Given the description of an element on the screen output the (x, y) to click on. 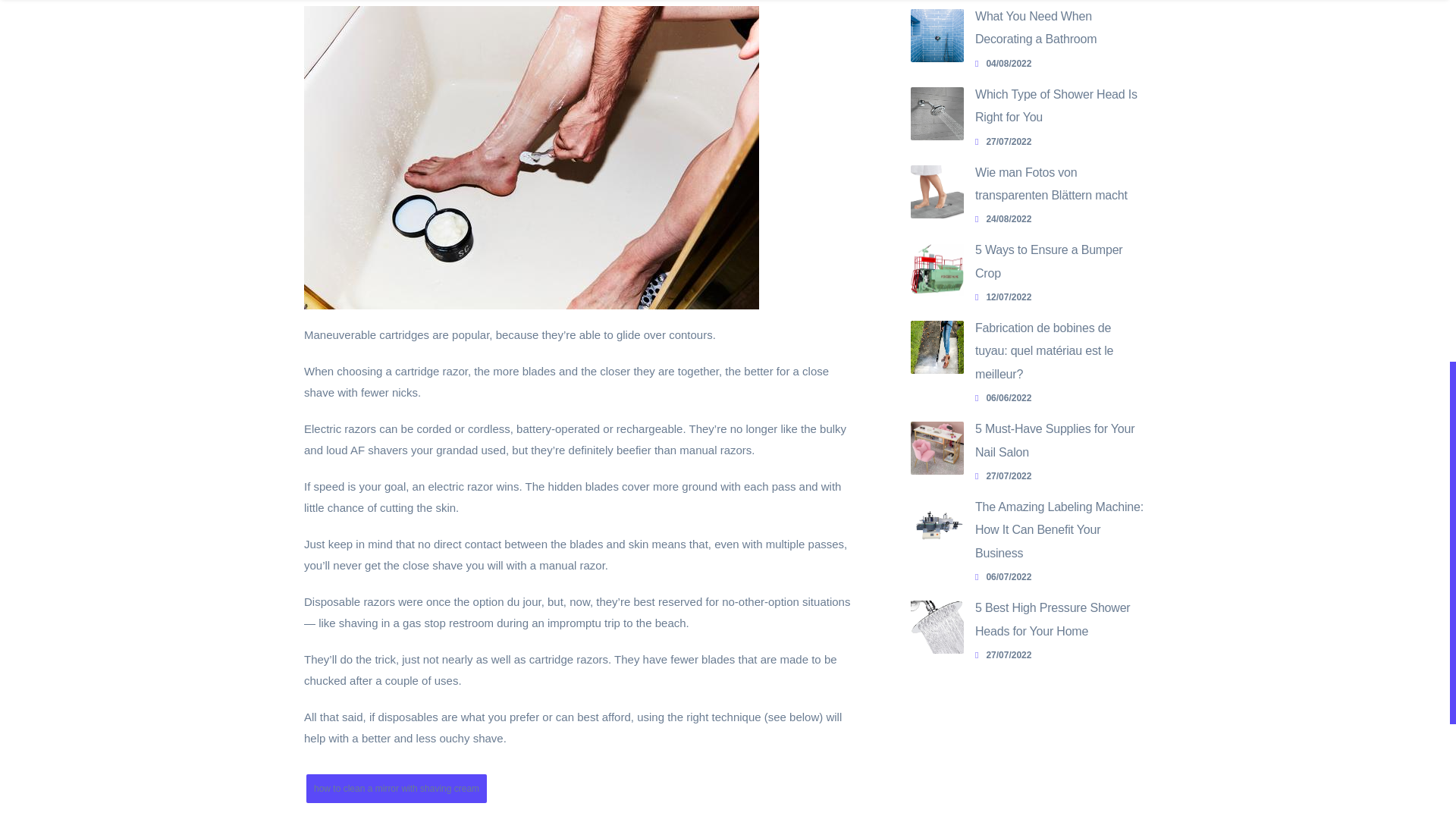
Which Type of Shower Head Is Right for You (1056, 105)
how to clean a mirror with shaving cream (395, 788)
What You Need When Decorating a Bathroom (1035, 27)
What You Need When Decorating a Bathroom (1035, 27)
5 Ways to Ensure a Bumper Crop (1048, 261)
What You Need When Decorating a Bathroom (937, 35)
